Given the description of an element on the screen output the (x, y) to click on. 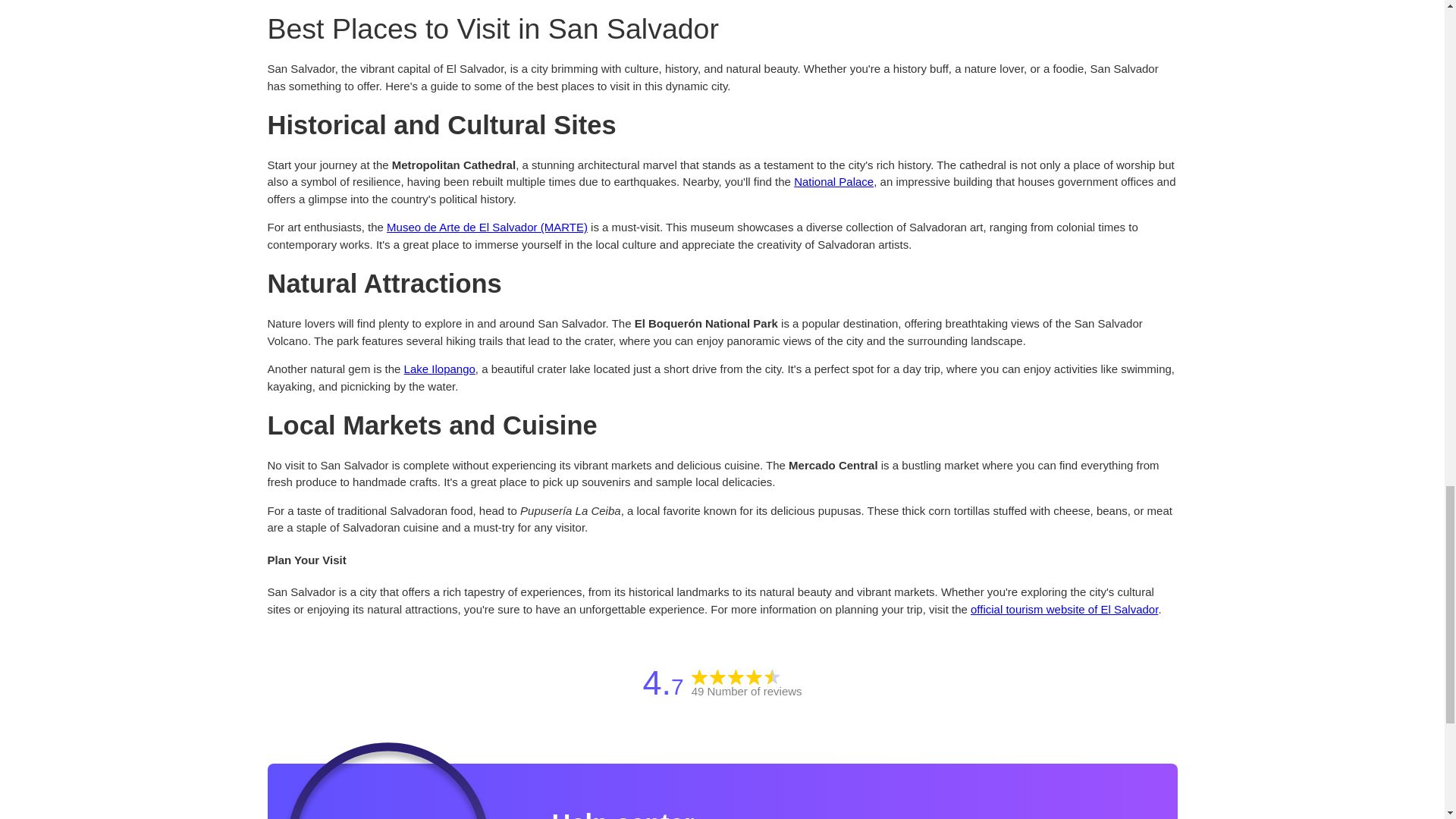
Lake Ilopango (440, 368)
National Palace (833, 181)
official tourism website of El Salvador (1064, 608)
